Given the description of an element on the screen output the (x, y) to click on. 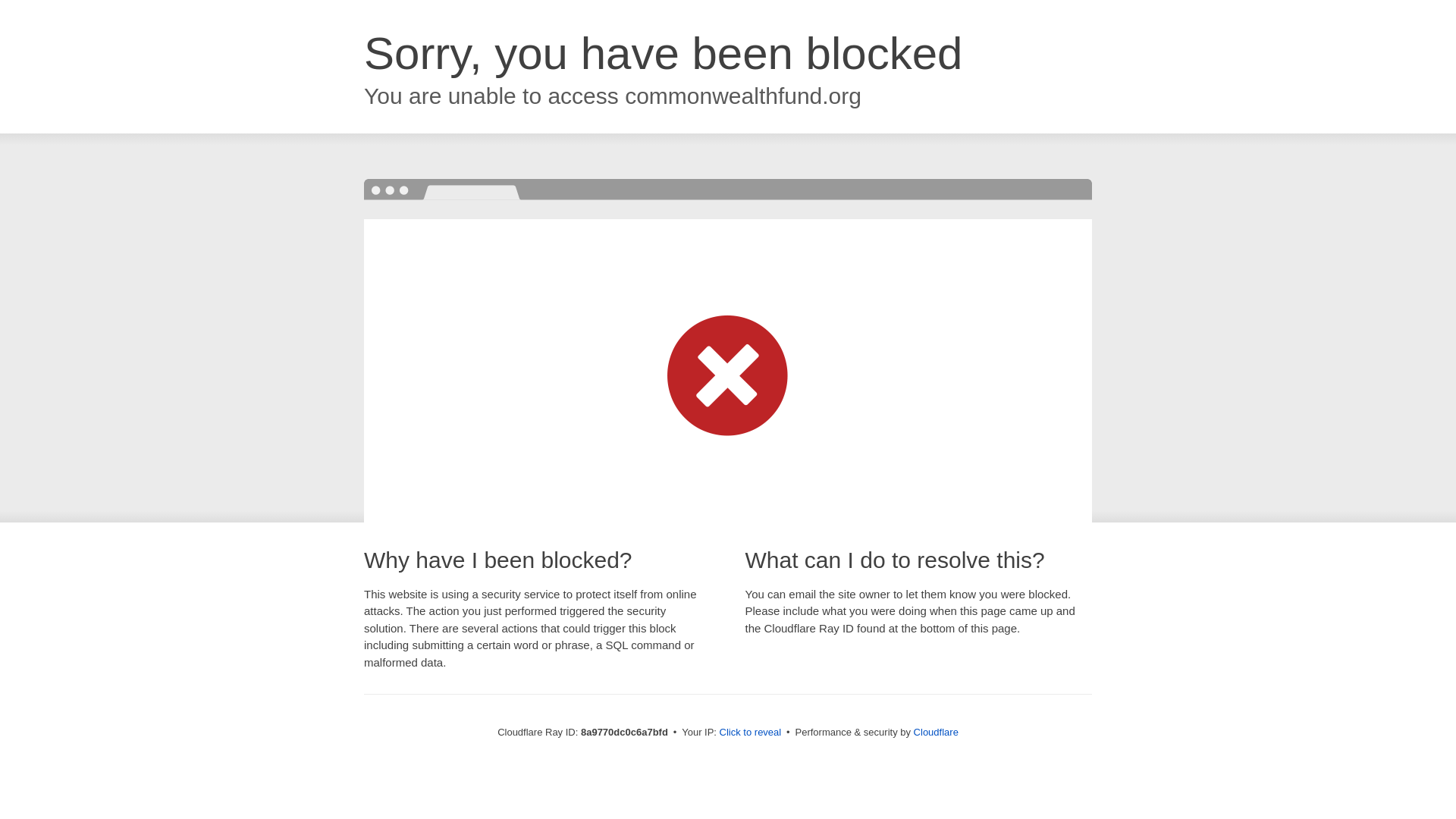
Cloudflare (936, 731)
Click to reveal (750, 732)
